Given the description of an element on the screen output the (x, y) to click on. 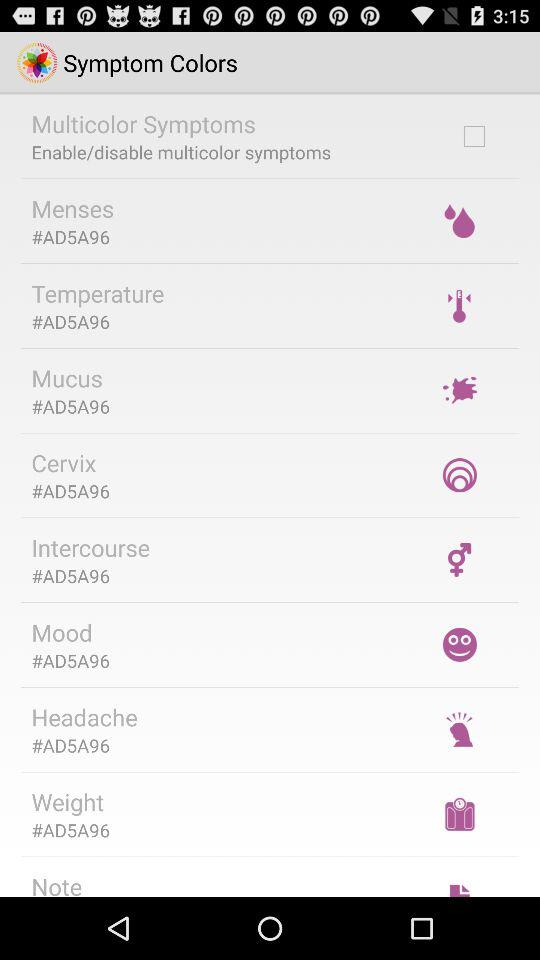
click menses icon (72, 208)
